Given the description of an element on the screen output the (x, y) to click on. 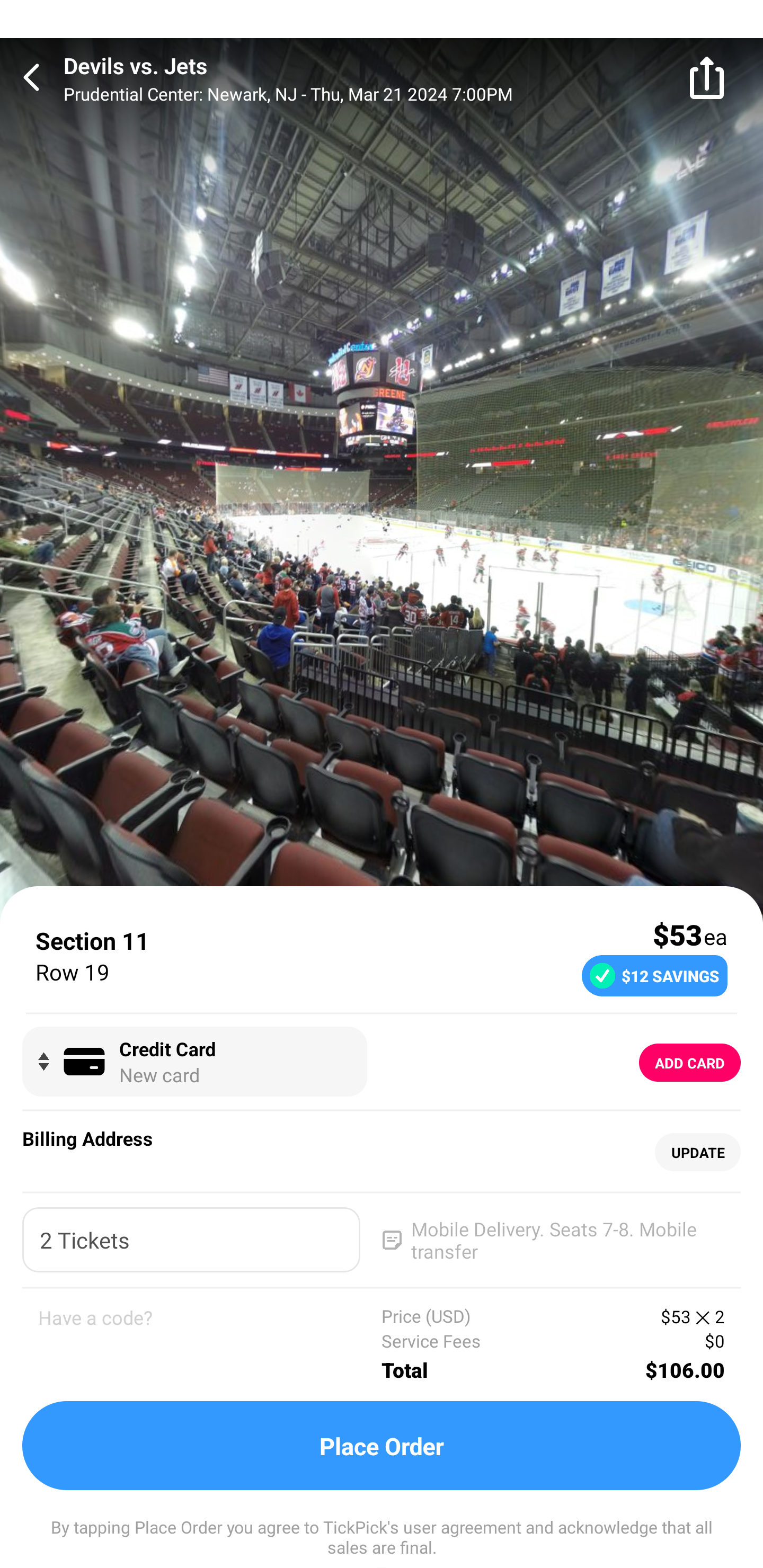
$12 SAVINGS (654, 974)
Credit Card, New card Credit Card New card (194, 1061)
ADD CARD (689, 1062)
UPDATE (697, 1152)
2 Tickets (191, 1239)
Mobile Delivery. Seats 7-8. Mobile transfer (552, 1239)
Have a code? (209, 1344)
Place Order (381, 1445)
